Given the description of an element on the screen output the (x, y) to click on. 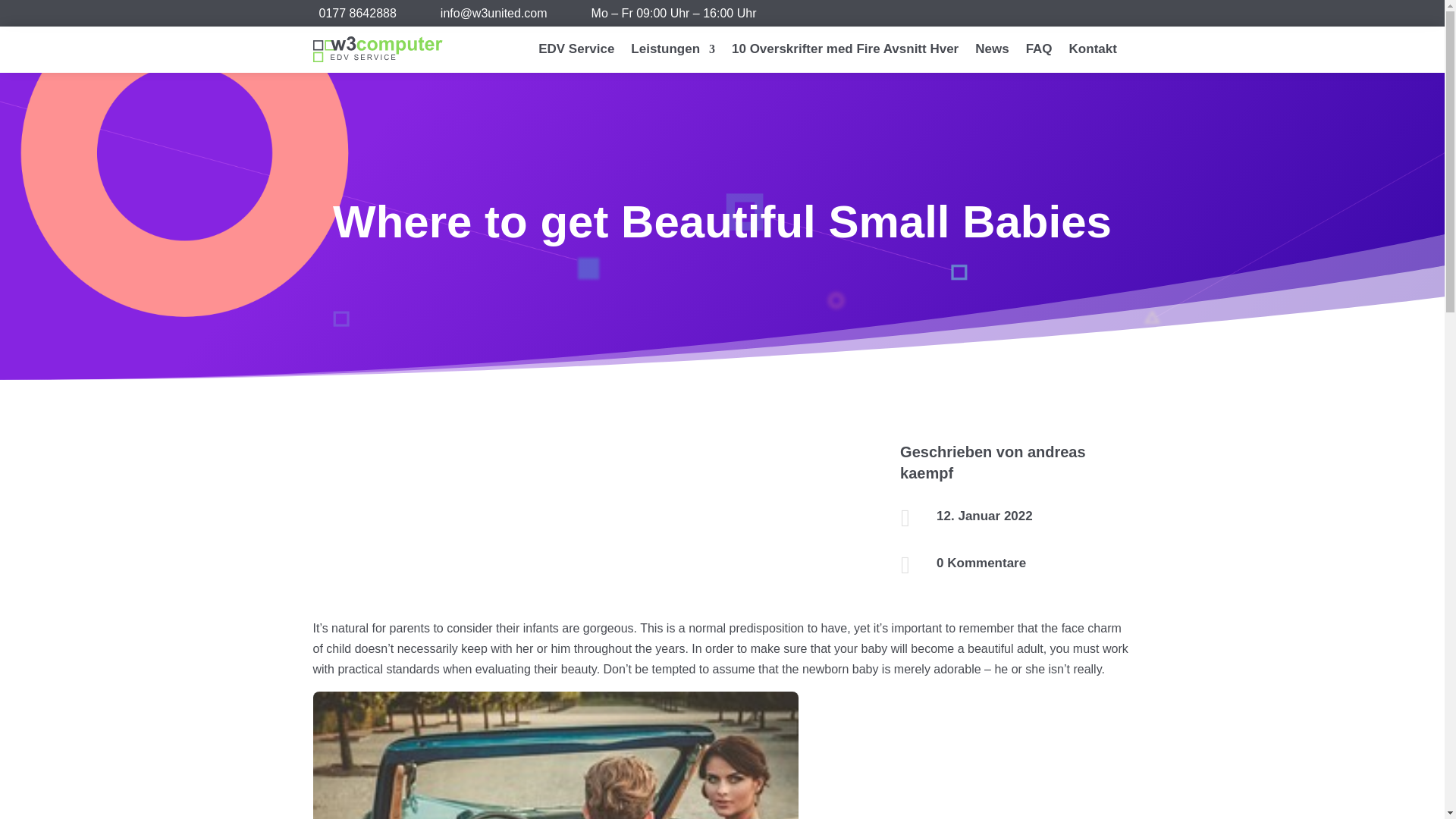
w3united (494, 12)
Leistungen (672, 52)
FAQ (1039, 52)
News (992, 52)
10 Overskrifter med Fire Avsnitt Hver (845, 52)
EDV Service (576, 52)
0177 8642888 (357, 12)
w3computer EDV Service Koblenz (377, 49)
w3united Media Consulting (357, 12)
Kontakt (1092, 52)
